Given the description of an element on the screen output the (x, y) to click on. 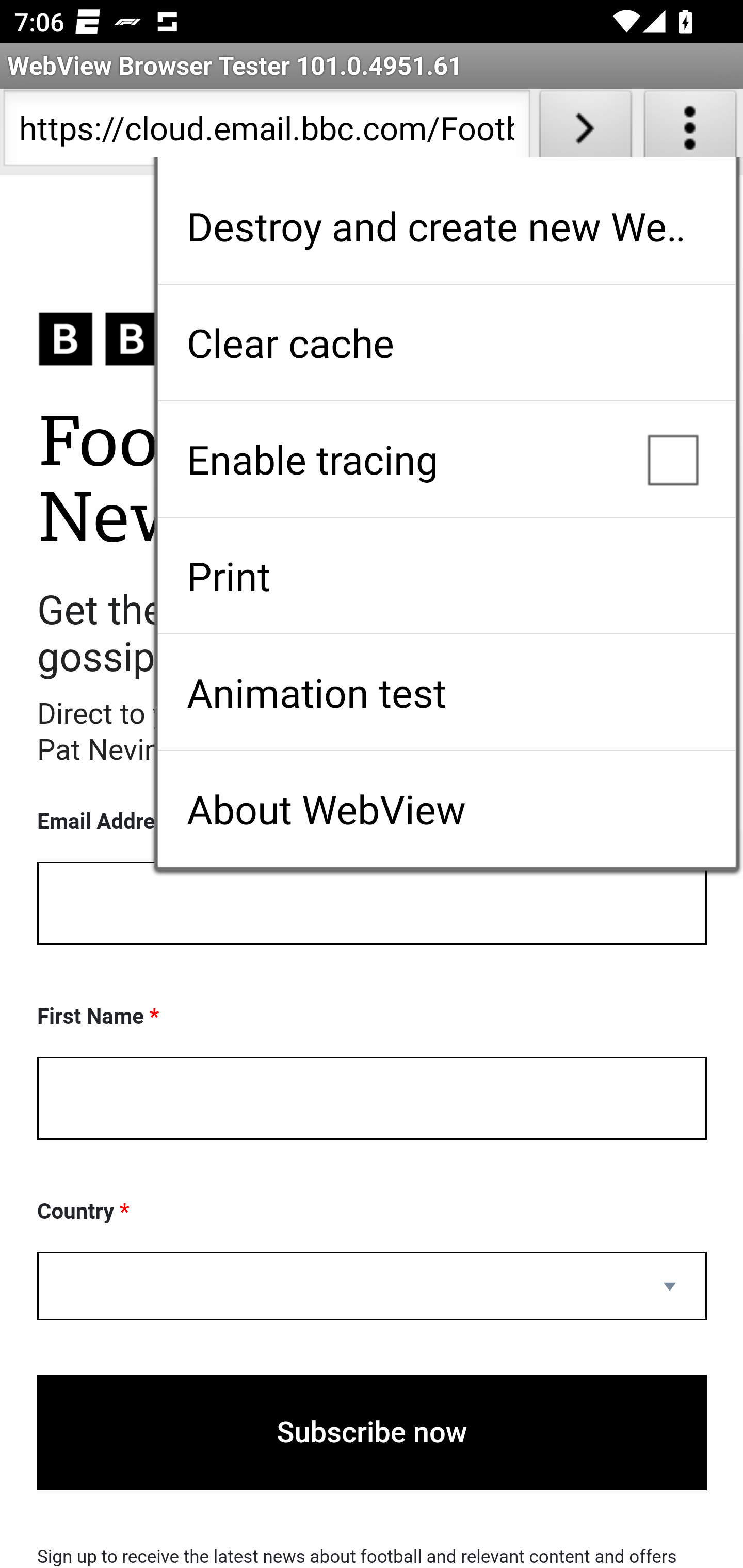
Destroy and create new WebView (446, 225)
Clear cache (446, 342)
Enable tracing (446, 459)
Print (446, 575)
Animation test (446, 692)
About WebView (446, 809)
